Given the description of an element on the screen output the (x, y) to click on. 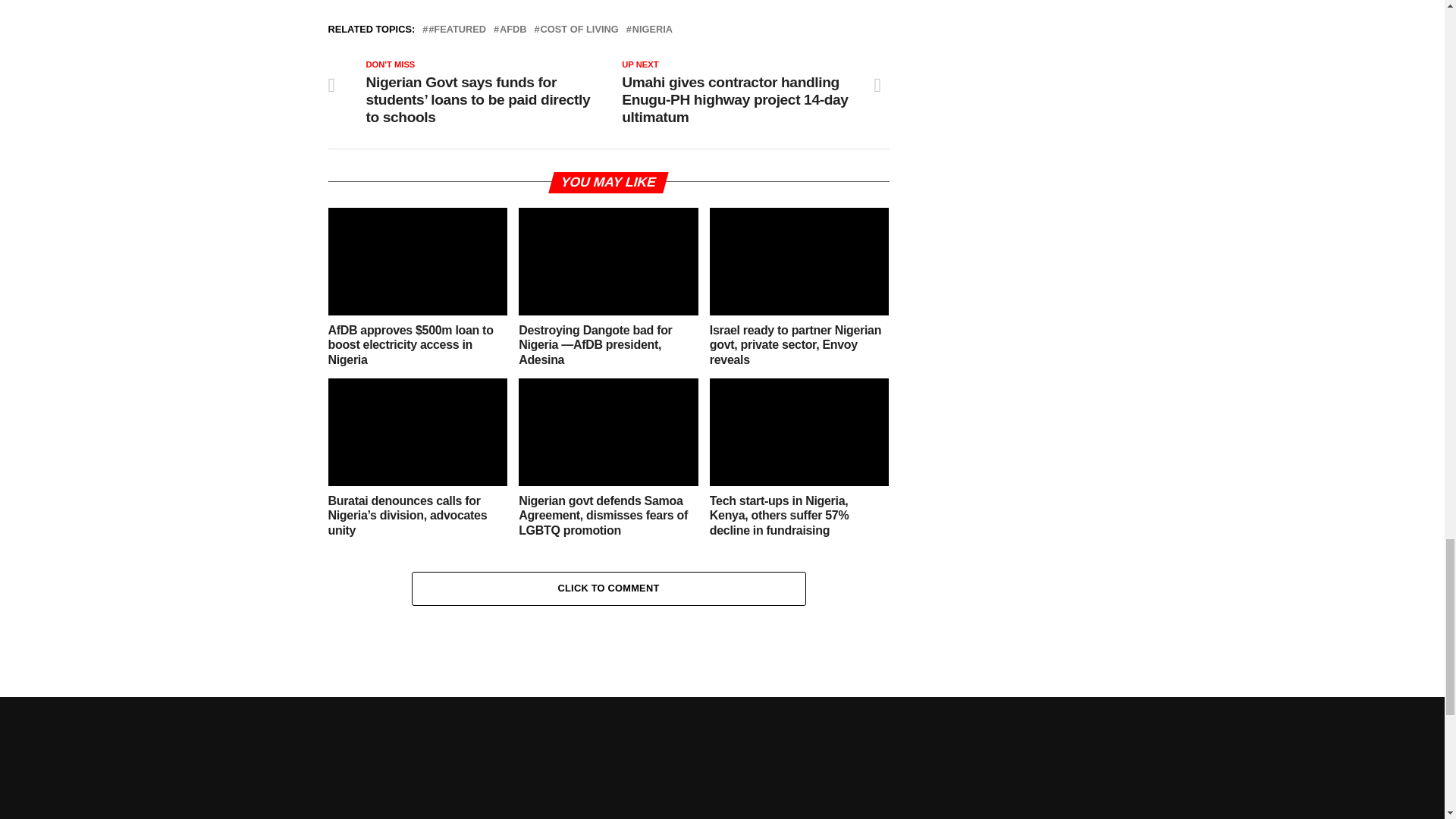
Advertisement (1055, 113)
Advertisement (721, 761)
